Given the description of an element on the screen output the (x, y) to click on. 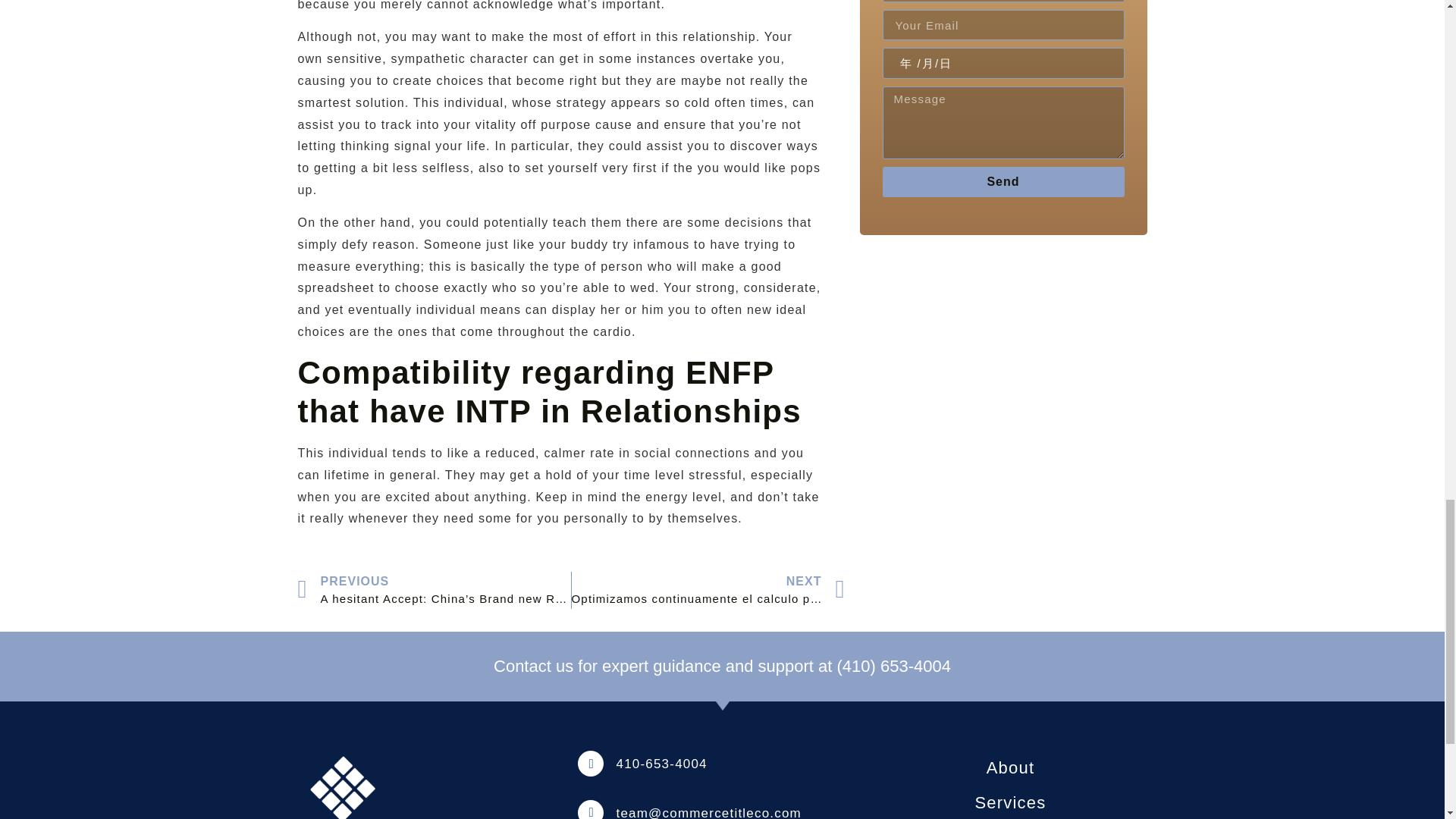
Services (1010, 802)
About (1010, 768)
Send (1003, 182)
410-653-4004 (660, 763)
